Given the description of an element on the screen output the (x, y) to click on. 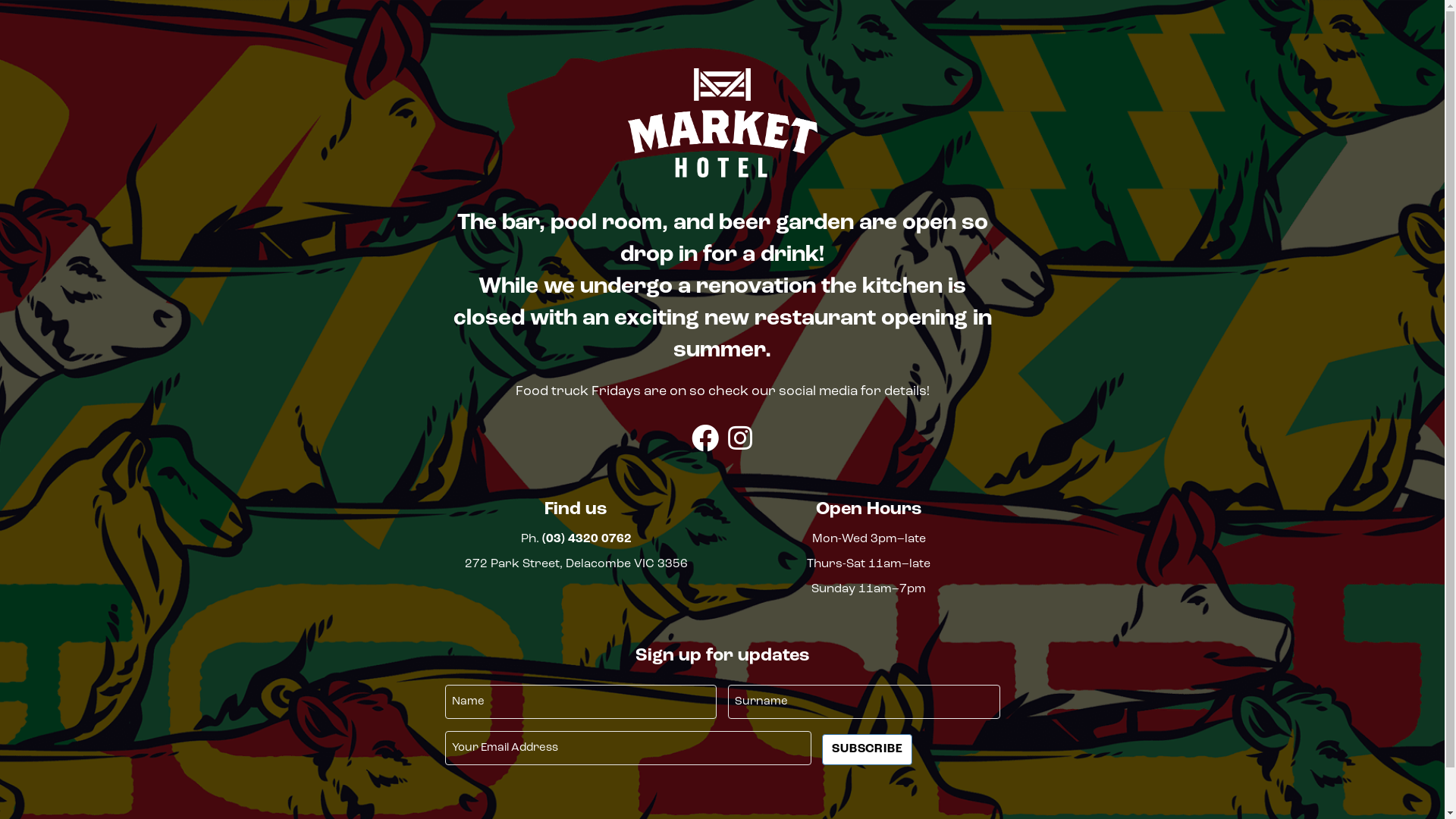
Instagram Element type: hover (739, 437)
market-hotel-logo-2 Element type: hover (722, 122)
Facebook Element type: hover (704, 437)
(03) 4320 0762 Element type: text (585, 539)
Subscribe Element type: text (867, 749)
